Given the description of an element on the screen output the (x, y) to click on. 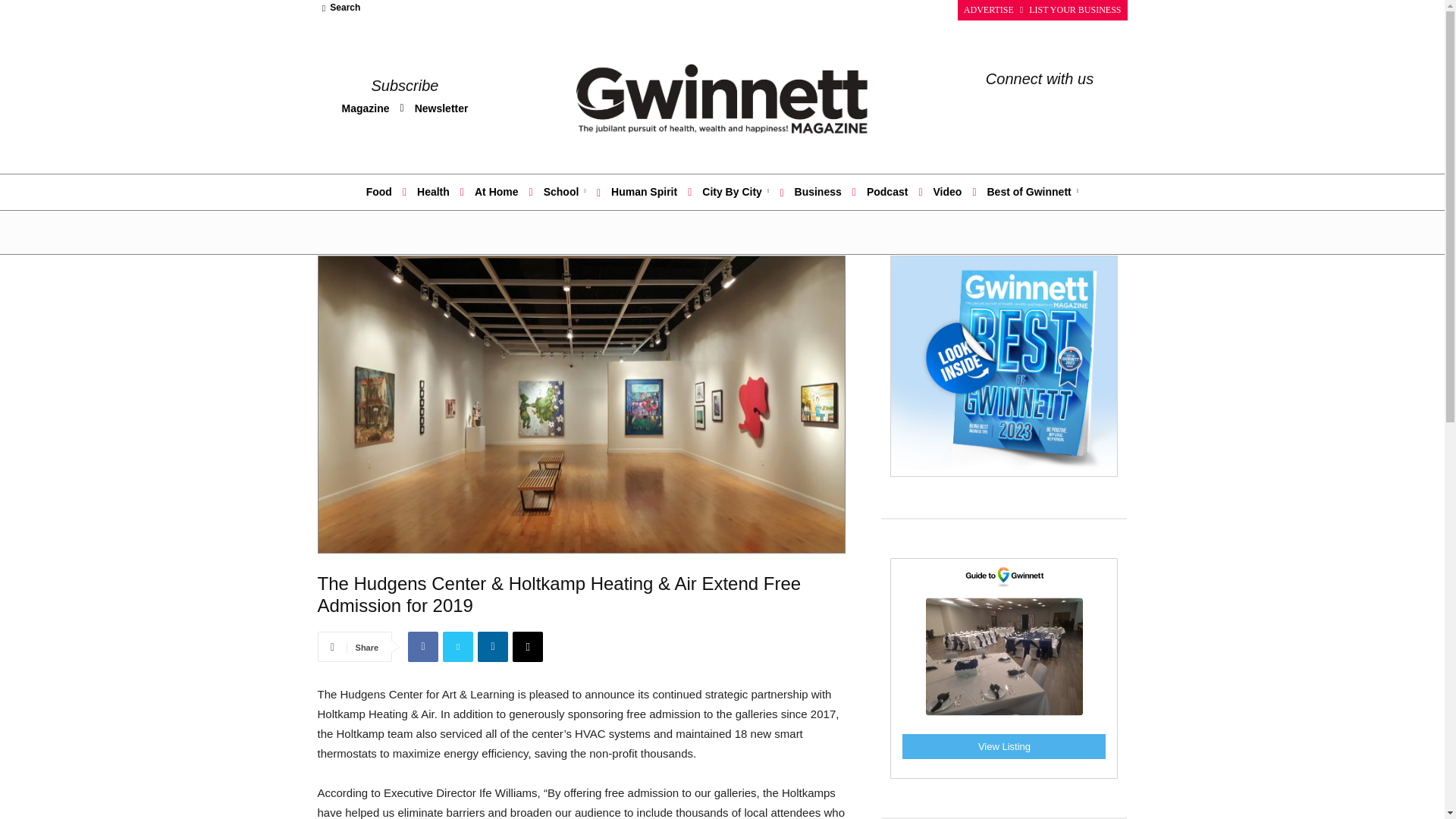
2023 Best of Gwinnett (1003, 365)
